Given the description of an element on the screen output the (x, y) to click on. 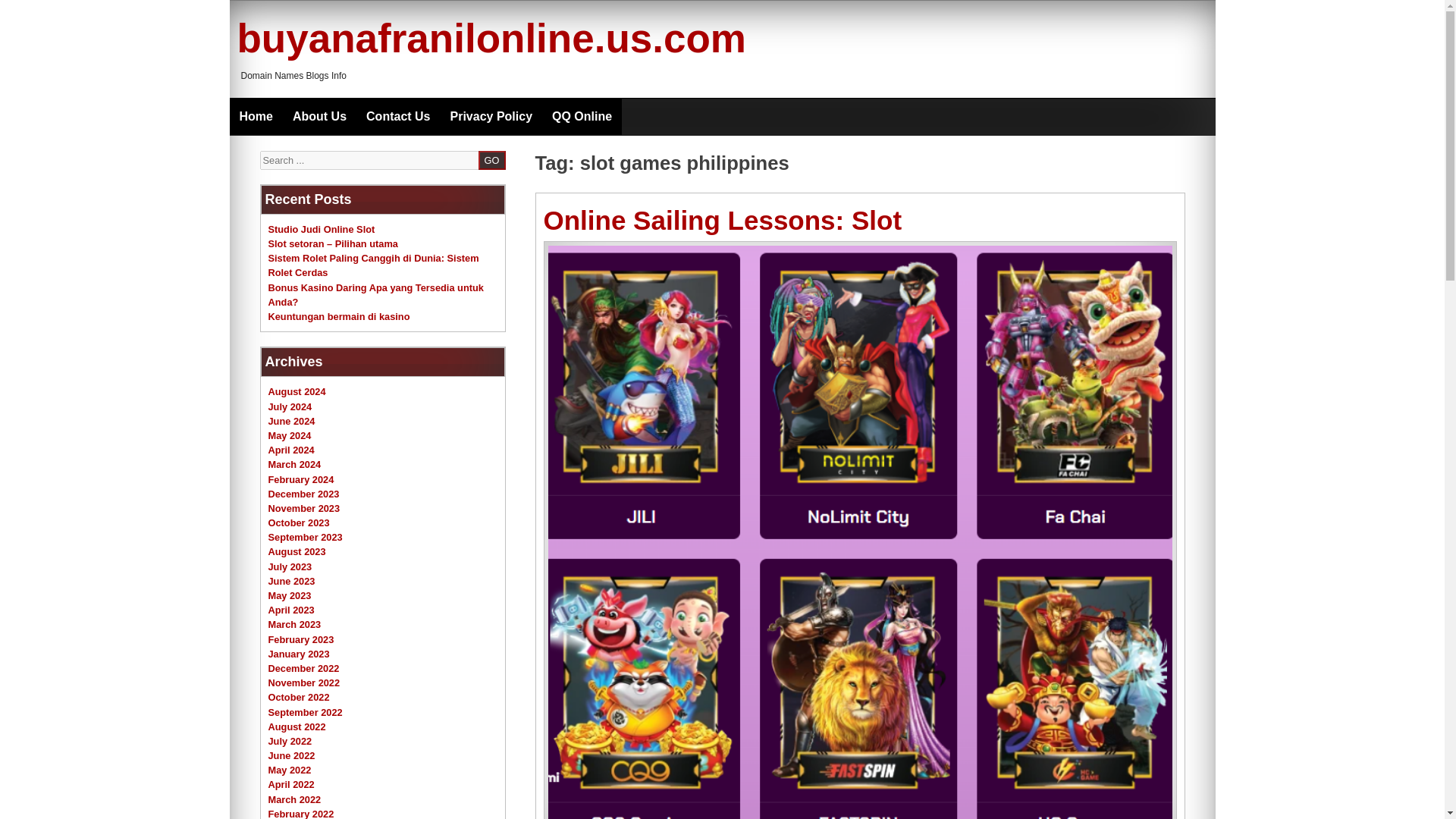
buyanafranilonline.us.com (490, 37)
July 2023 (290, 566)
March 2024 (294, 464)
October 2023 (298, 522)
April 2023 (290, 609)
March 2023 (294, 624)
February 2024 (300, 478)
Keuntungan bermain di kasino (338, 316)
November 2023 (303, 508)
June 2023 (291, 581)
